Given the description of an element on the screen output the (x, y) to click on. 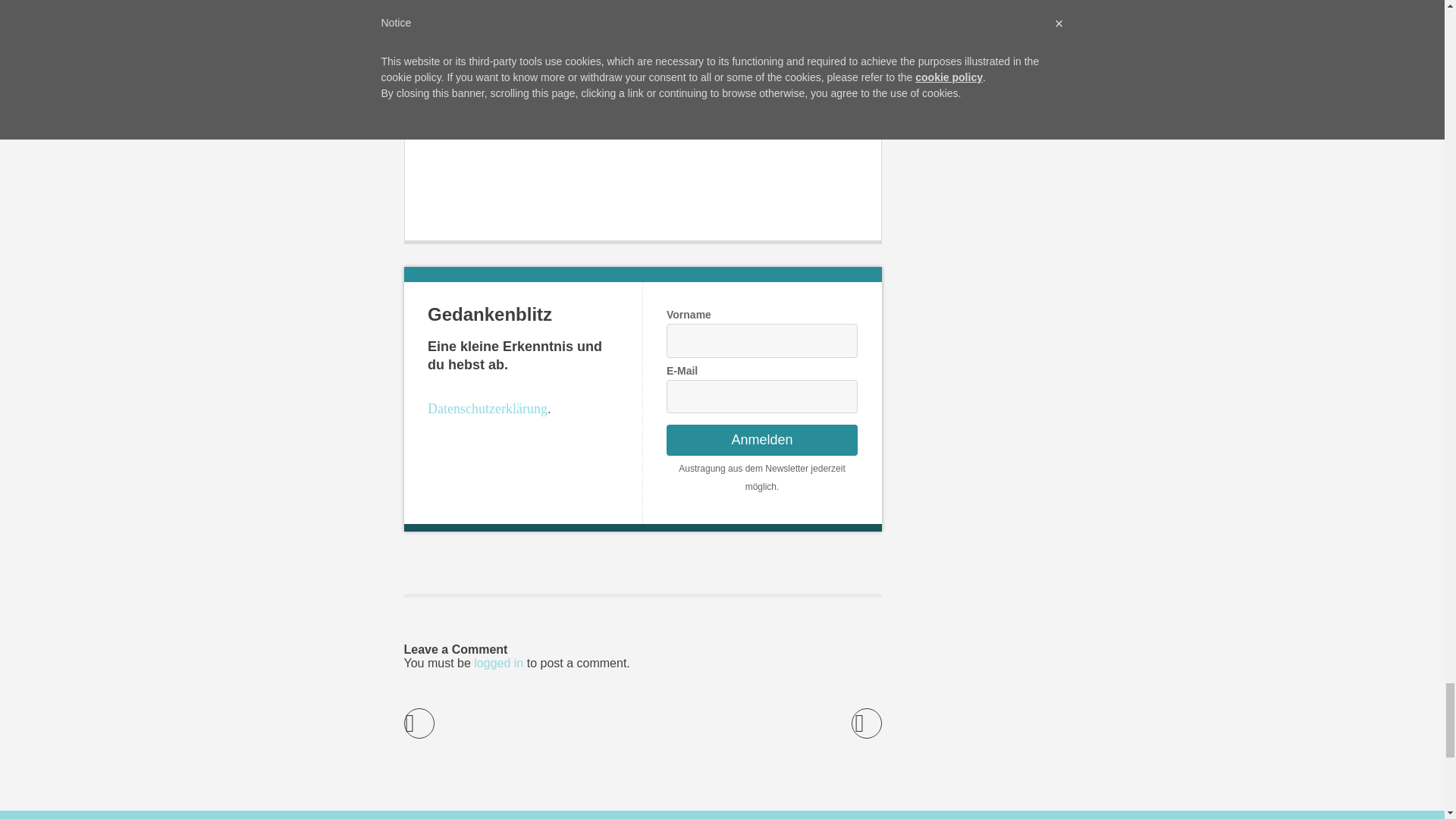
logged in (498, 662)
Anmelden (761, 440)
